Given the description of an element on the screen output the (x, y) to click on. 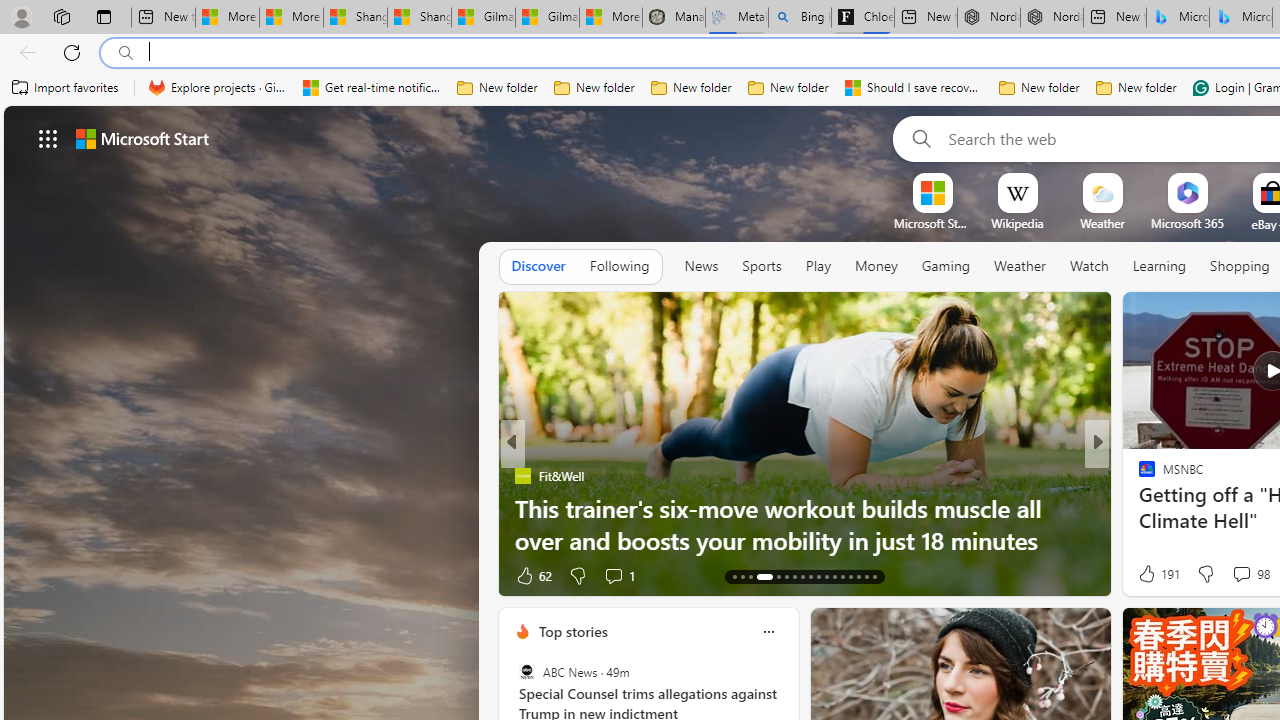
AutomationID: tab-27 (857, 576)
View comments 56 Comment (1234, 575)
AutomationID: tab-13 (733, 576)
AutomationID: tab-23 (825, 576)
AutomationID: tab-19 (793, 576)
New folder (1136, 88)
AZ Animals (US) (522, 507)
Microsoft start (142, 138)
View comments 1 Comment (1234, 574)
View comments 16 Comment (1234, 575)
AutomationID: tab-29 (874, 576)
